Given the description of an element on the screen output the (x, y) to click on. 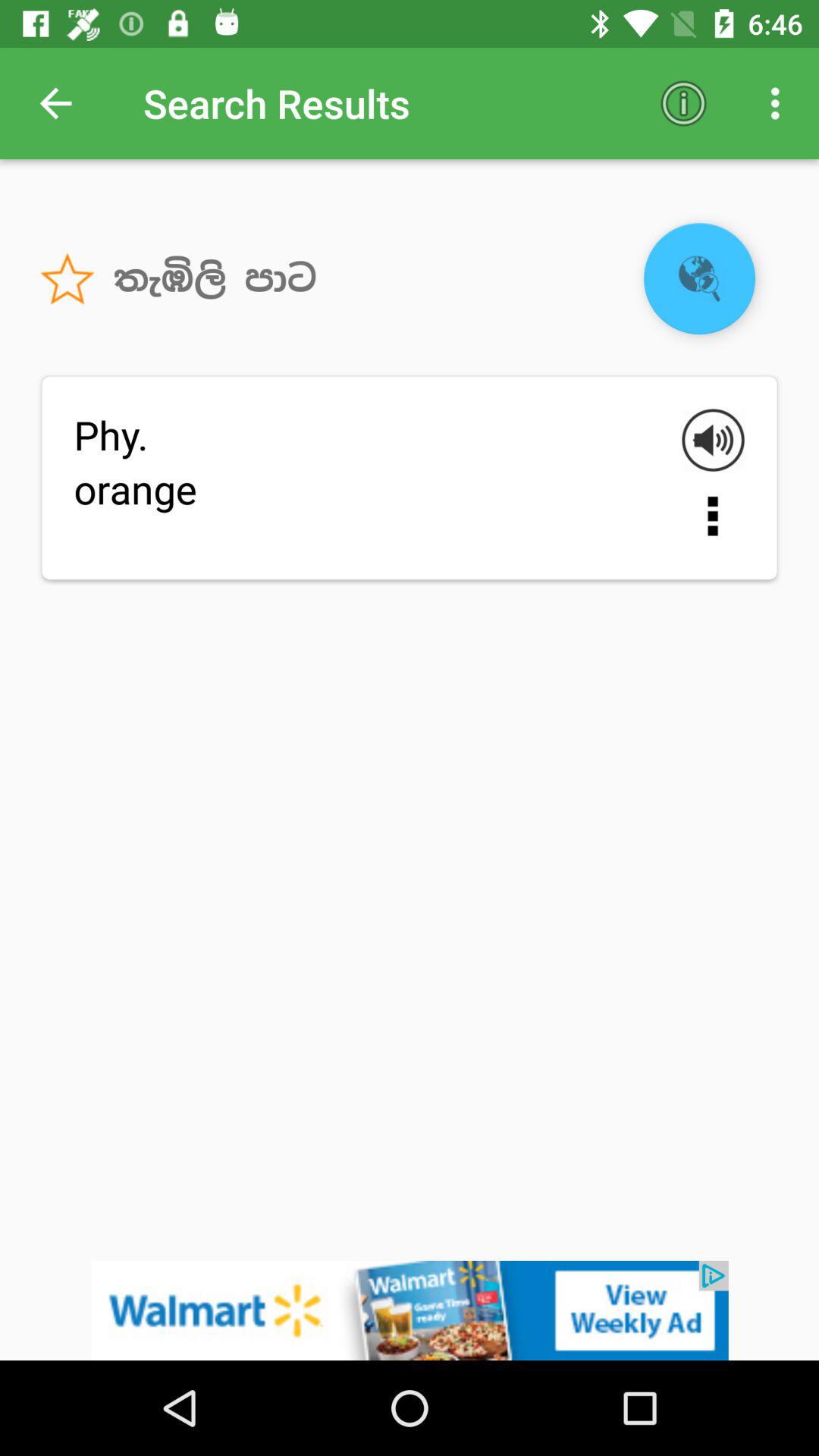
view map (699, 278)
